Given the description of an element on the screen output the (x, y) to click on. 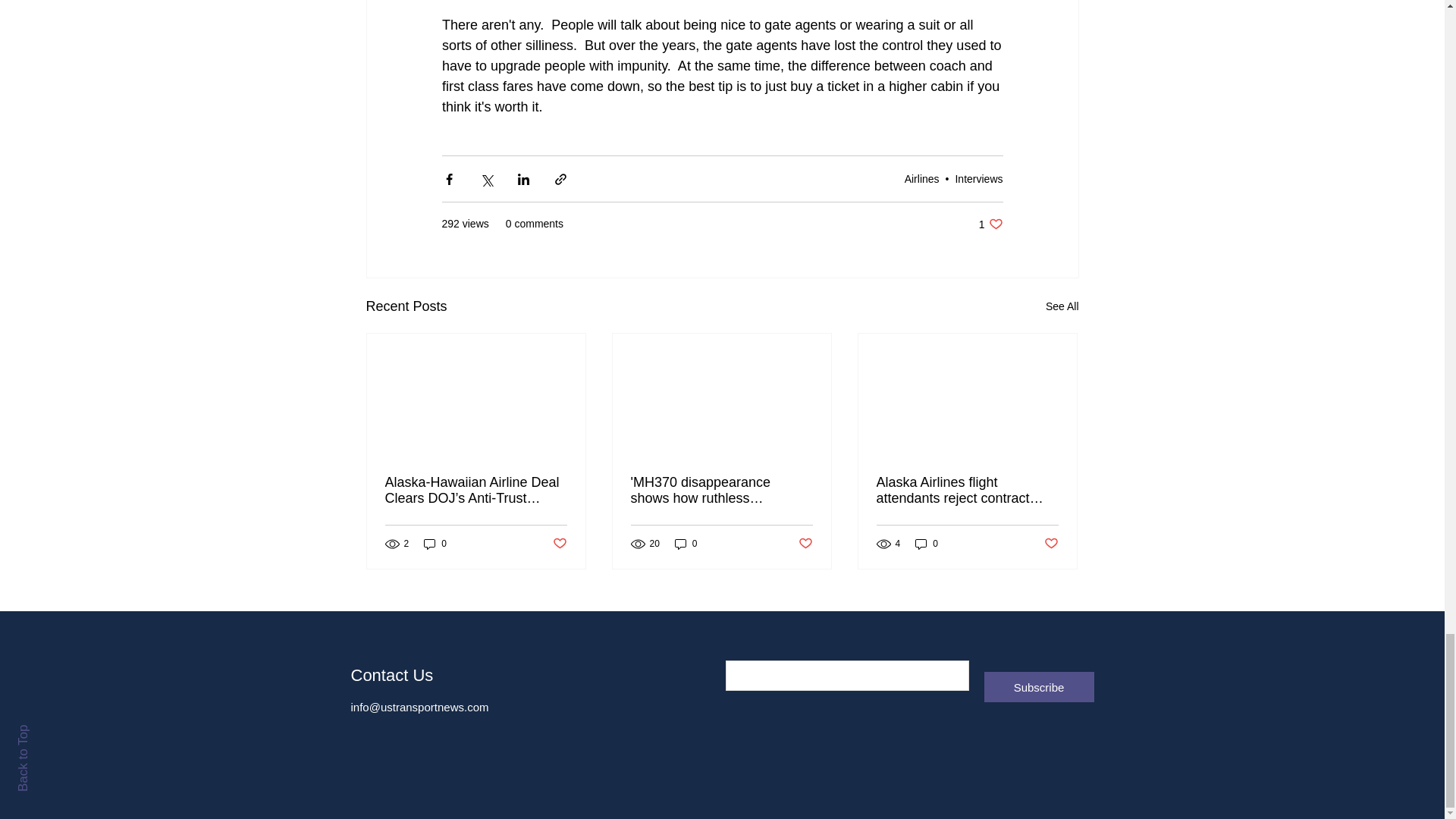
0 (685, 543)
0 (435, 543)
Interviews (979, 177)
See All (1061, 306)
Airlines (990, 223)
Post not marked as liked (921, 177)
Post not marked as liked (804, 544)
